Given the description of an element on the screen output the (x, y) to click on. 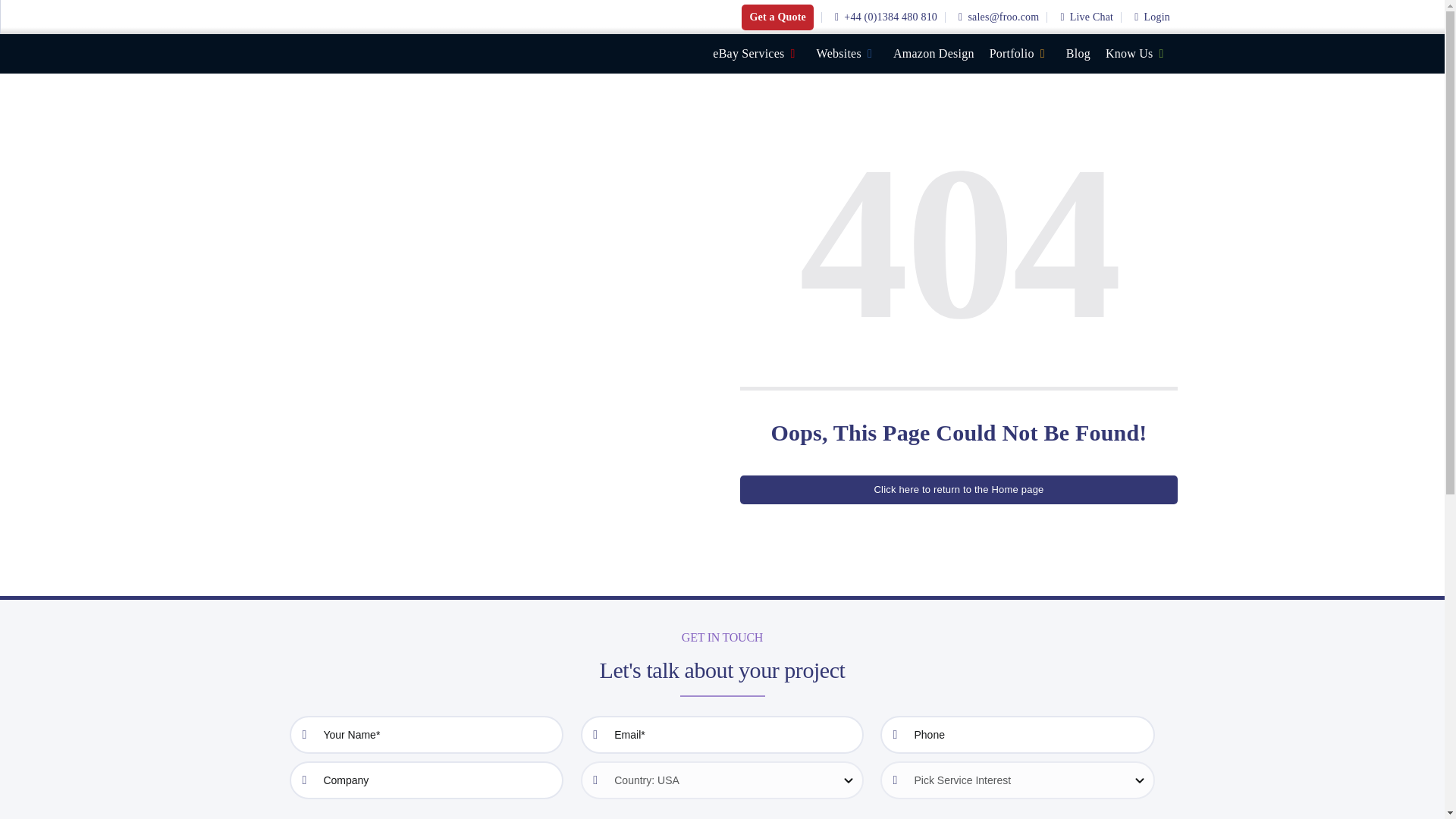
eBay Services (760, 53)
Live Chat (1083, 17)
Login (1149, 17)
Get a Quote (777, 17)
